Given the description of an element on the screen output the (x, y) to click on. 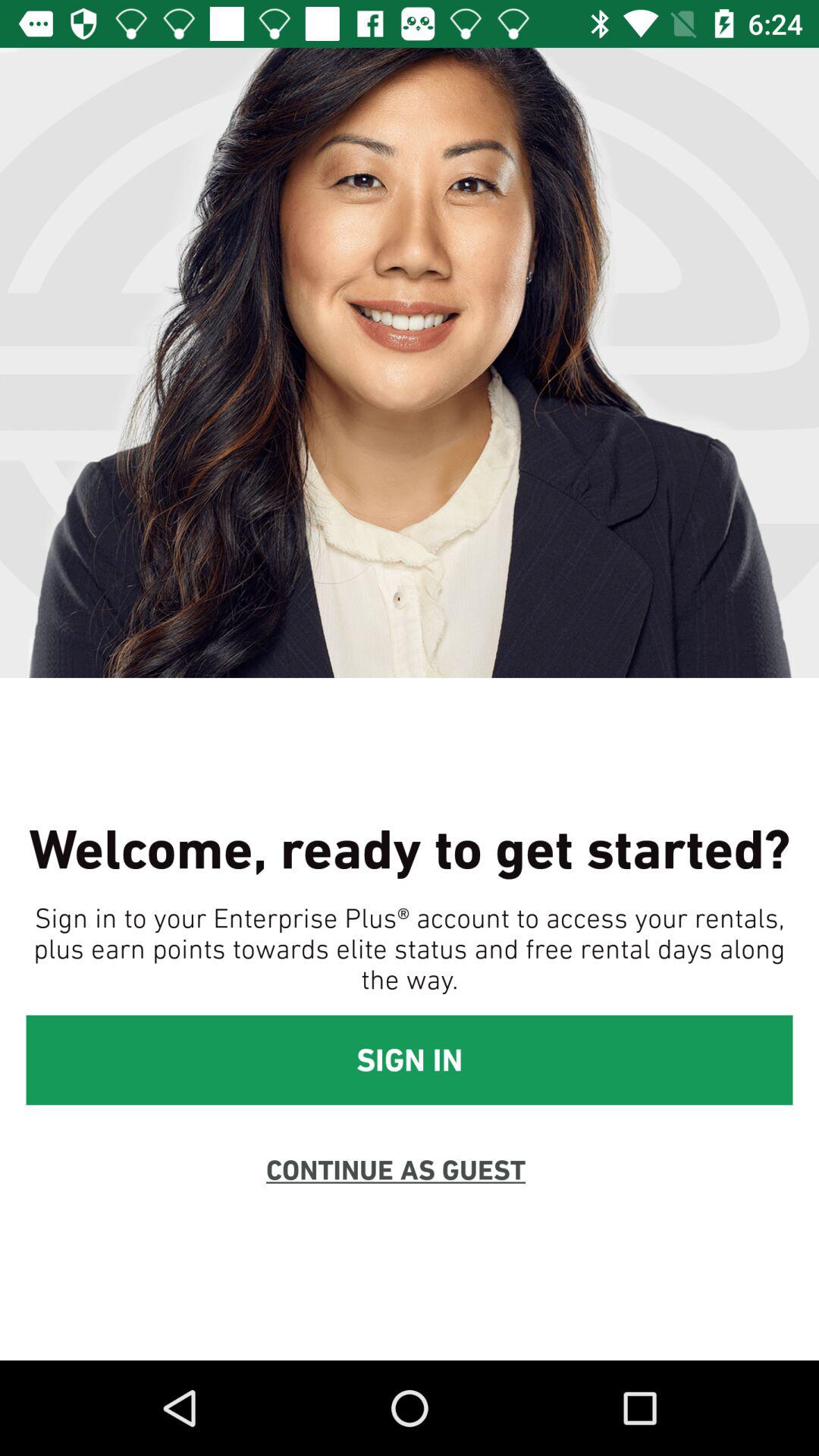
select the icon below sign in (395, 1169)
